Given the description of an element on the screen output the (x, y) to click on. 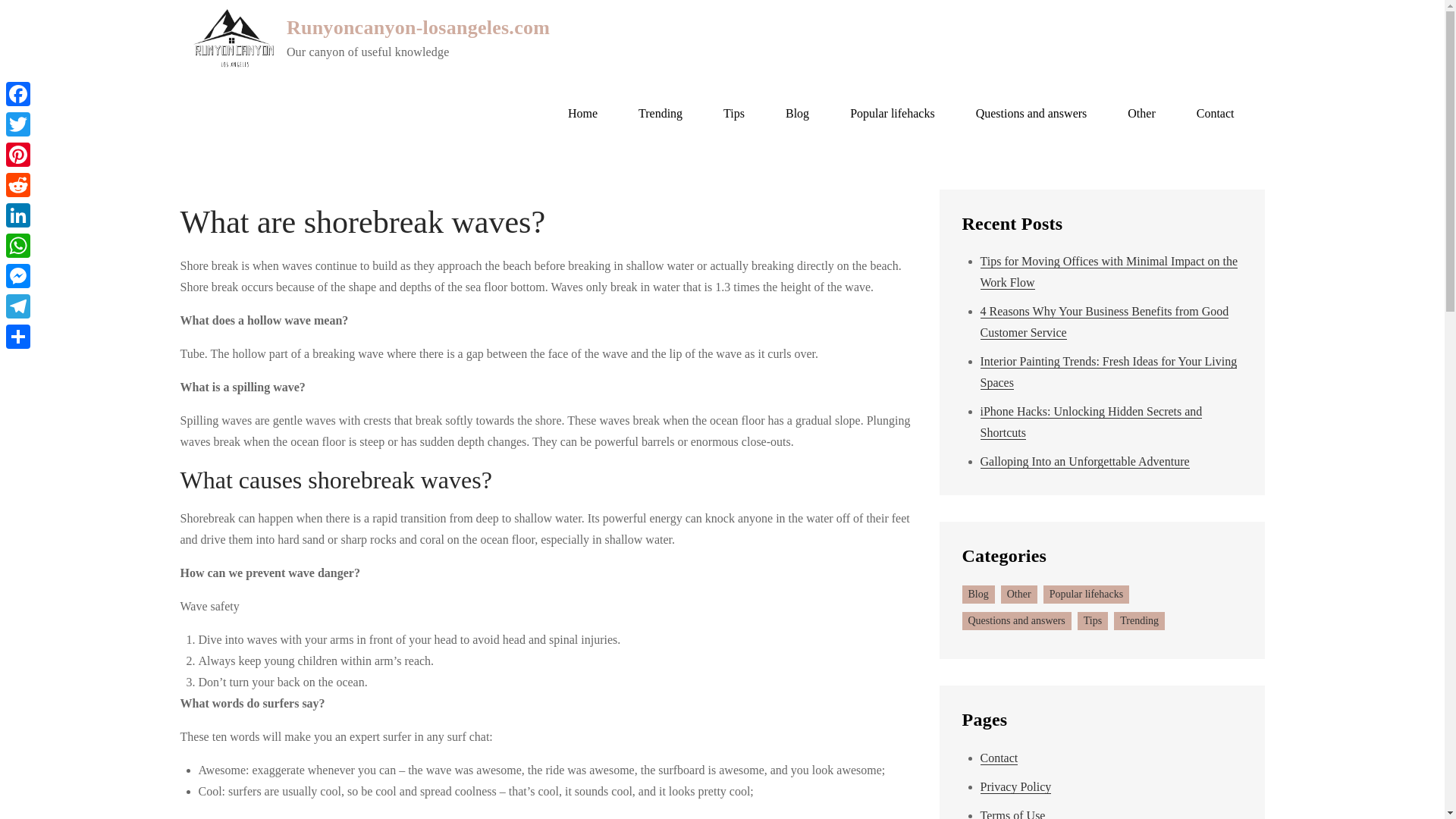
Trending (660, 113)
Facebook (17, 93)
Pinterest (17, 154)
Privacy Policy (1015, 786)
Contact (1215, 113)
Popular lifehacks (892, 113)
Runyoncanyon-losangeles.com (418, 27)
Popular lifehacks (1086, 594)
WhatsApp (17, 245)
Home (581, 113)
Contact (998, 757)
Interior Painting Trends: Fresh Ideas for Your Living Spaces (1107, 371)
Tips (1092, 620)
Reddit (17, 184)
Questions and answers (1031, 113)
